Given the description of an element on the screen output the (x, y) to click on. 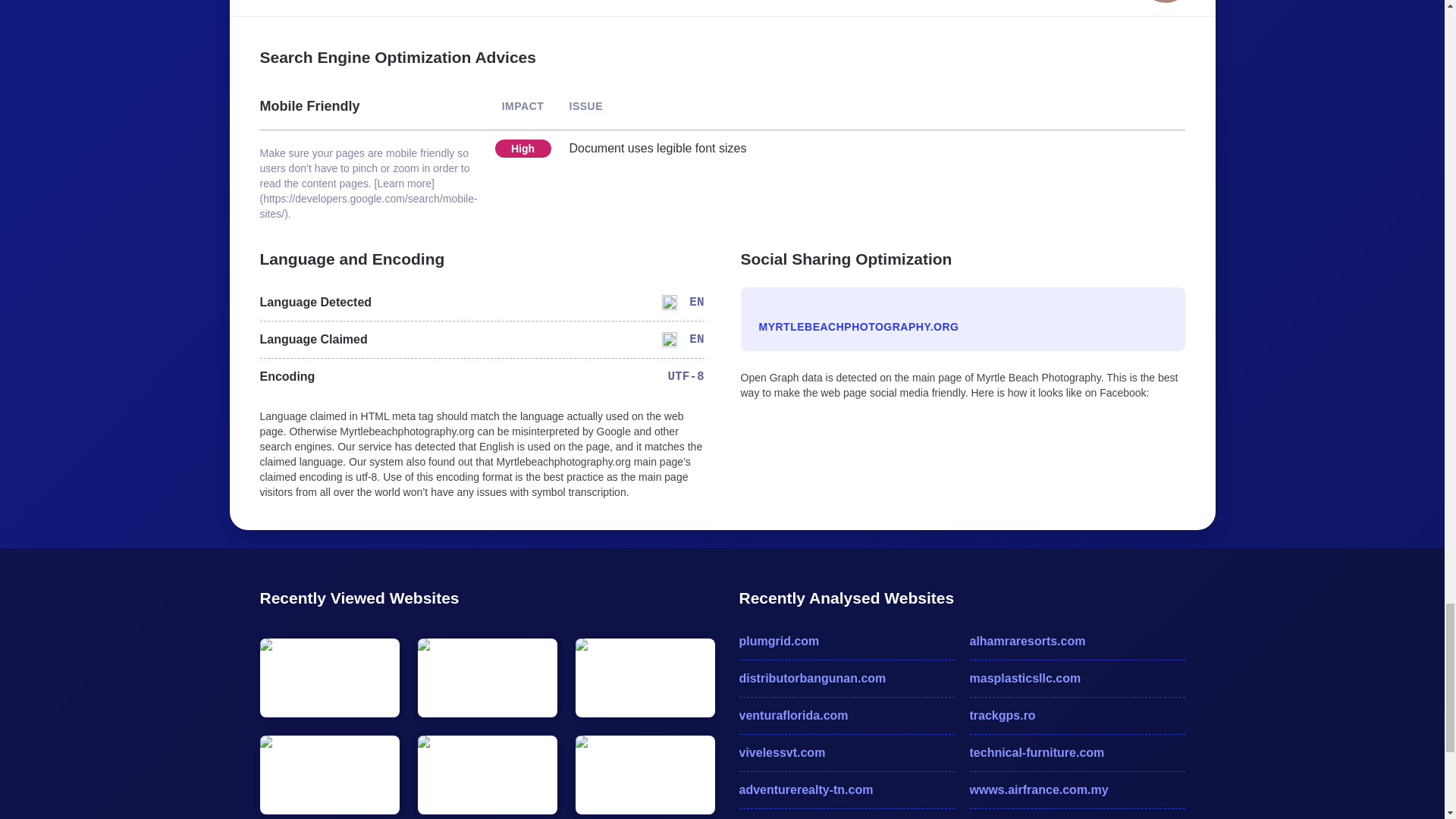
adventurerealty-tn.com (845, 790)
masplasticsllc.com (1077, 678)
plumgrid.com (845, 641)
trackgps.ro (1077, 715)
alhamraresorts.com (1077, 641)
distributorbangunan.com (845, 678)
vivelessvt.com (845, 752)
technical-furniture.com (1077, 752)
